Given the description of an element on the screen output the (x, y) to click on. 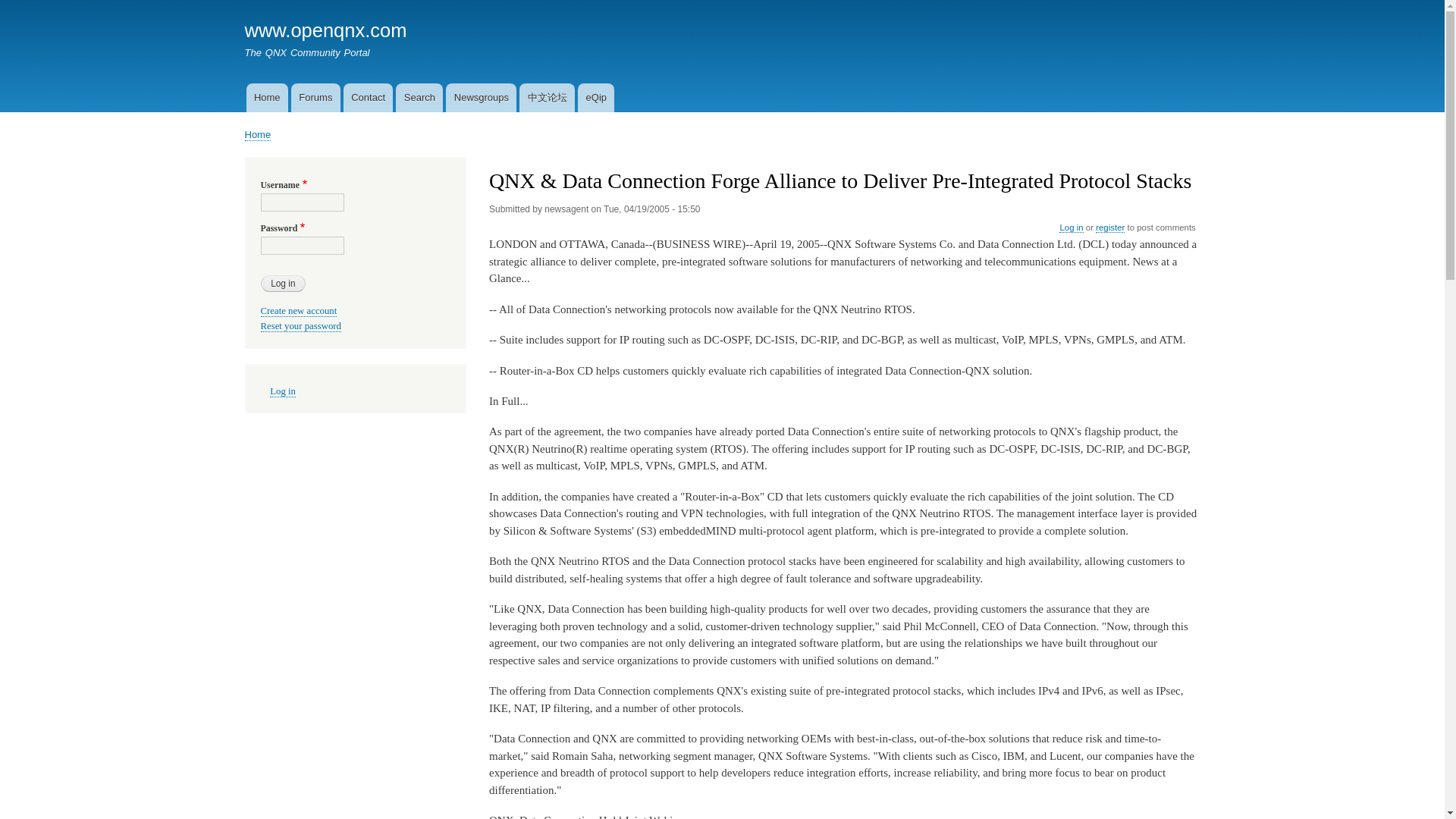
Log in (1071, 227)
Contact (368, 97)
eQip (596, 97)
Forums (315, 97)
Home (266, 97)
Create new account (298, 310)
Create a new user account. (298, 310)
www.openqnx.com (325, 29)
Skip to main content (722, 1)
Reset your password (301, 326)
Search (419, 97)
Send password reset instructions via email. (301, 326)
Newsgroups (480, 97)
Home (257, 134)
Log in (282, 283)
